Given the description of an element on the screen output the (x, y) to click on. 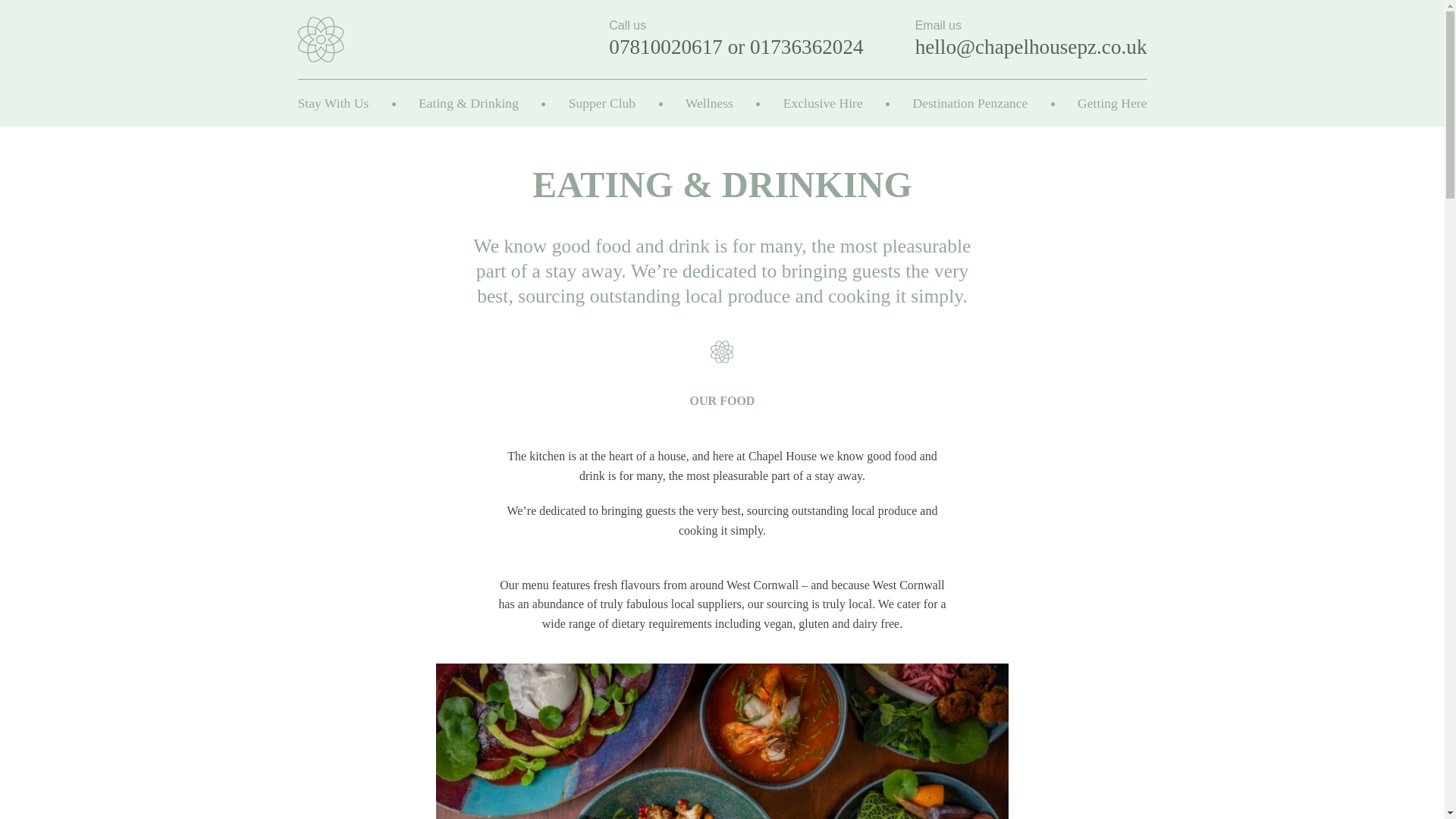
Destination Penzance (969, 102)
Getting Here (1112, 102)
Wellness (709, 102)
Stay With Us (332, 102)
Supper Club (601, 102)
Exclusive Hire (823, 102)
